Given the description of an element on the screen output the (x, y) to click on. 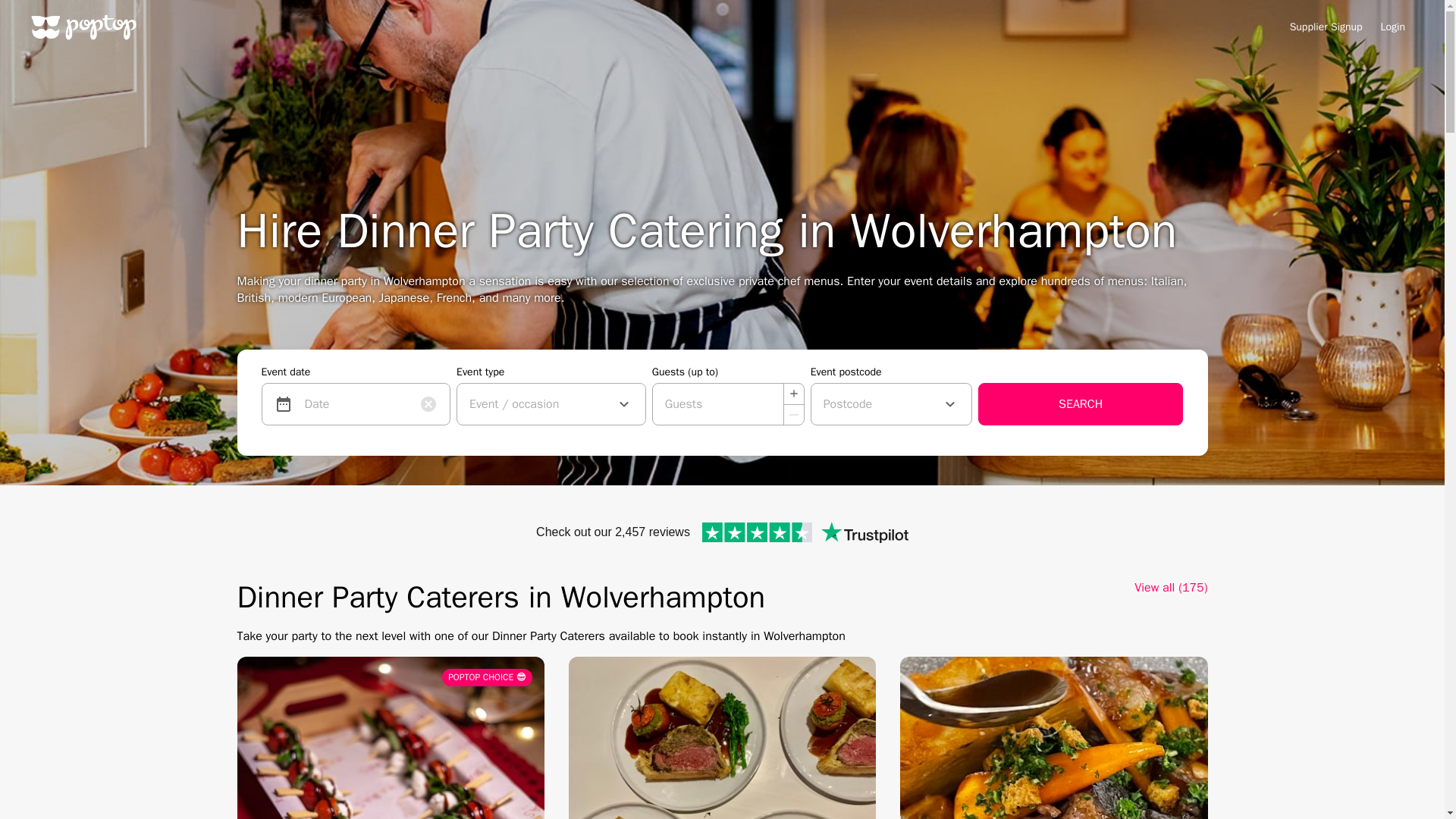
Login (1392, 26)
Customer reviews powered by Trustpilot (721, 531)
SEARCH (1080, 404)
Supplier Signup (1326, 26)
